Given the description of an element on the screen output the (x, y) to click on. 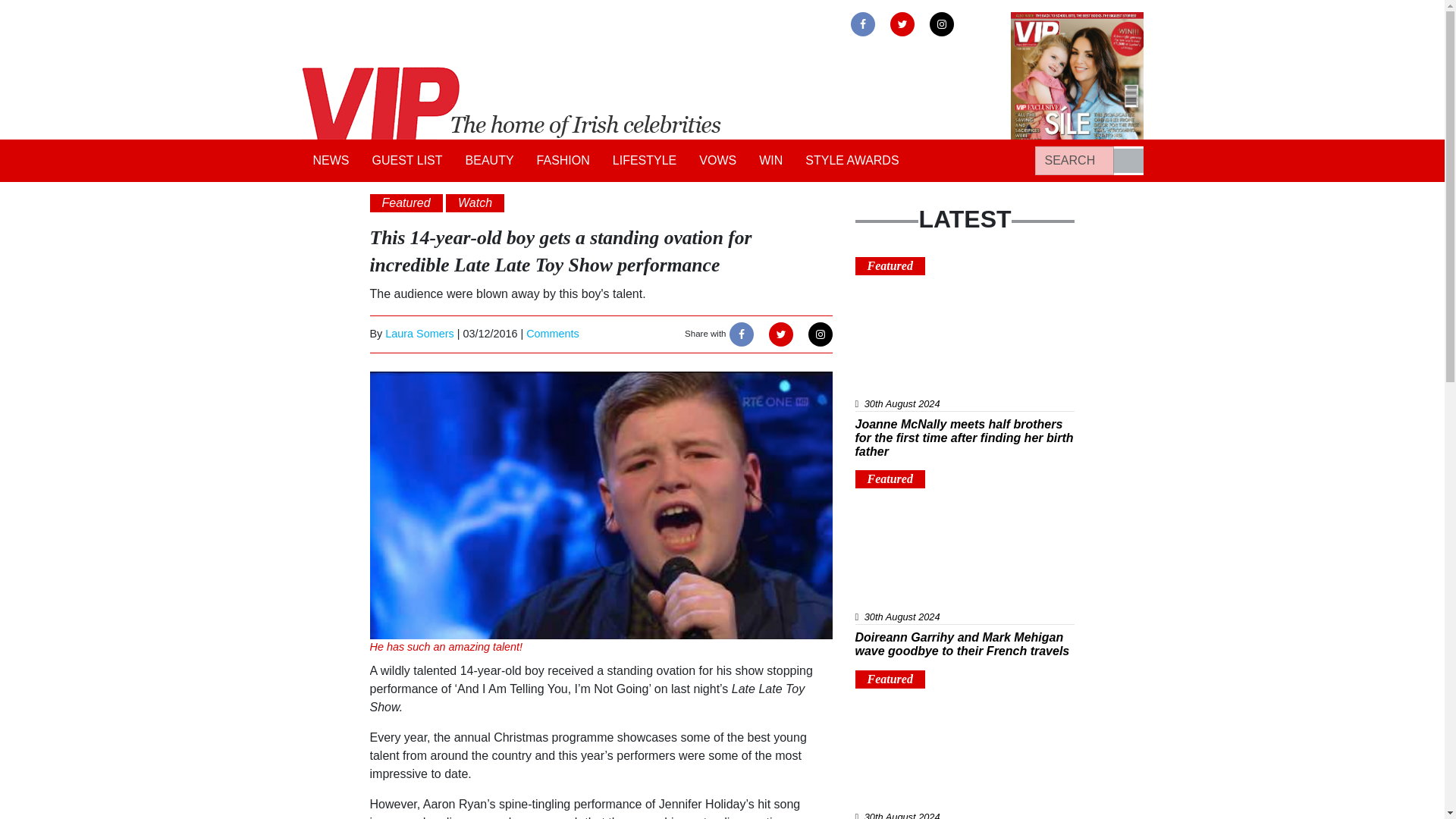
NEWS (331, 160)
Featured (889, 478)
Featured (889, 265)
LIFESTYLE (644, 160)
FASHION (563, 160)
BEAUTY (489, 160)
GUEST LIST (407, 160)
Featured (889, 678)
